Given the description of an element on the screen output the (x, y) to click on. 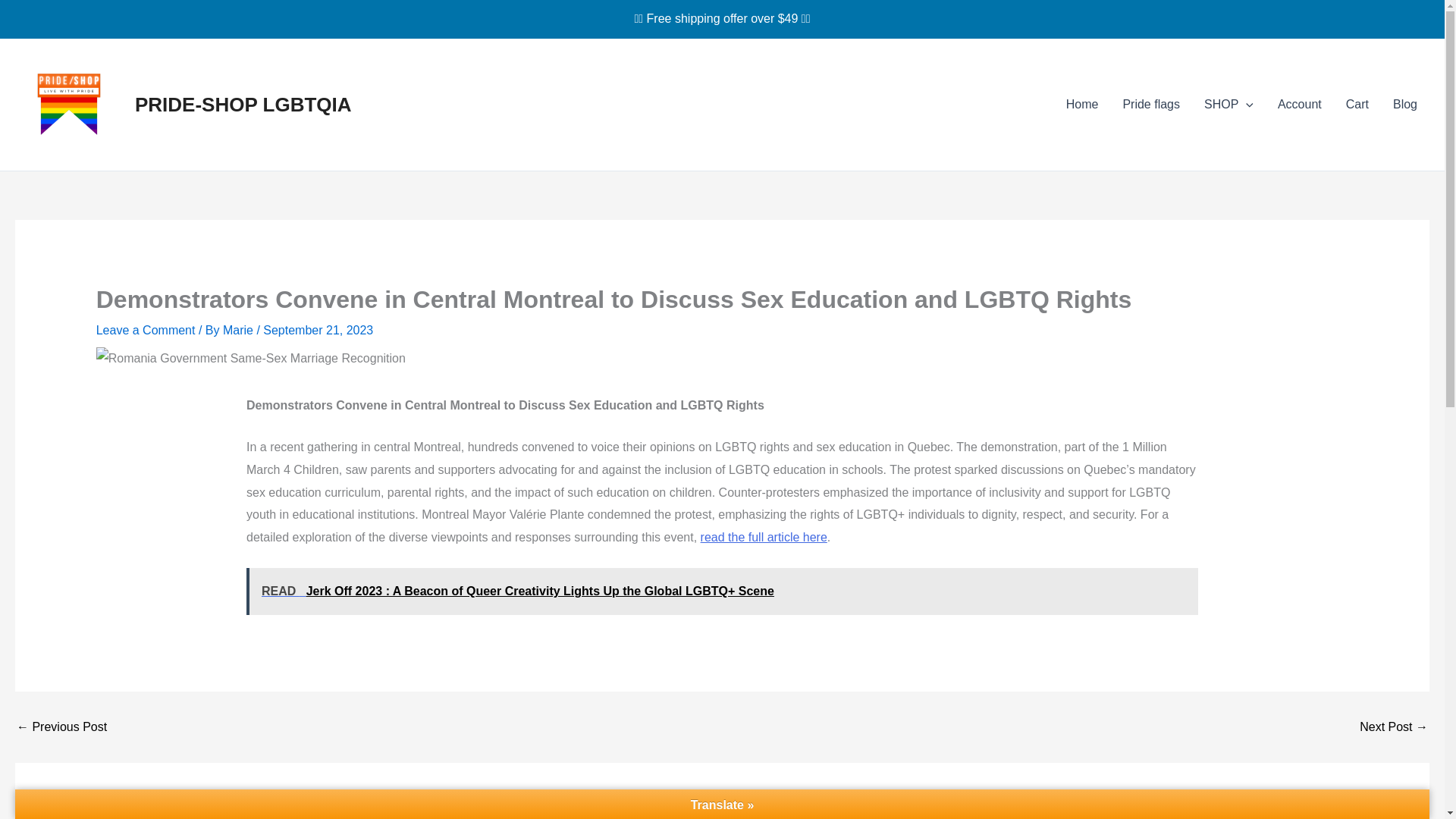
Romania Government Same-Sex Marriage Recognition (1393, 727)
Account (1299, 104)
View all posts by Marie (239, 329)
Kenya LGBT Community Rights (61, 727)
PRIDE-SHOP LGBTQIA (243, 104)
Pride flags (1150, 104)
Leave a Comment (145, 329)
Home (1082, 104)
SHOP (1228, 104)
